Given the description of an element on the screen output the (x, y) to click on. 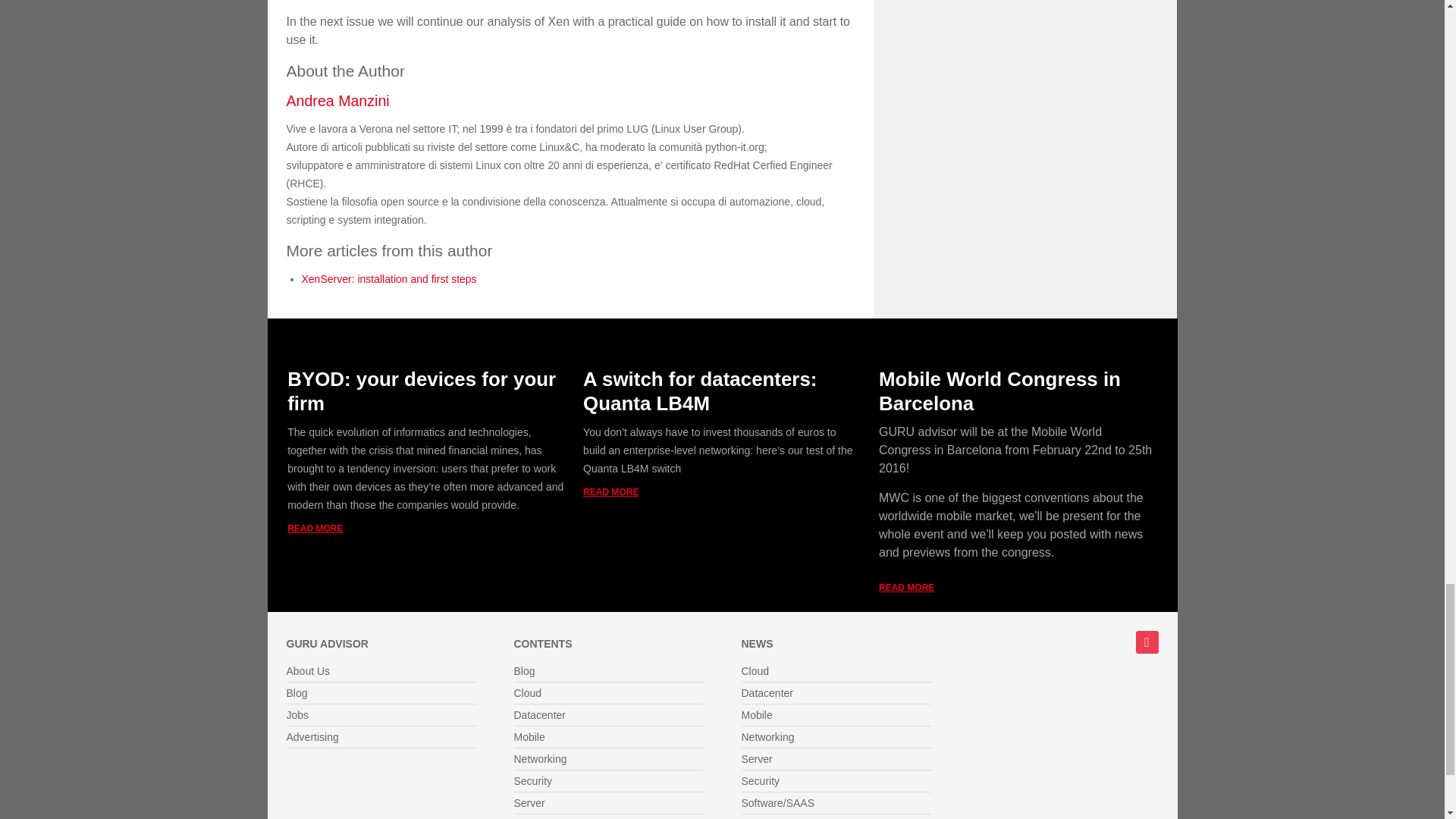
XenServer: installation and first steps (389, 278)
Andrea Manzini (338, 100)
View all articles from Andrea Manzini (338, 100)
